Given the description of an element on the screen output the (x, y) to click on. 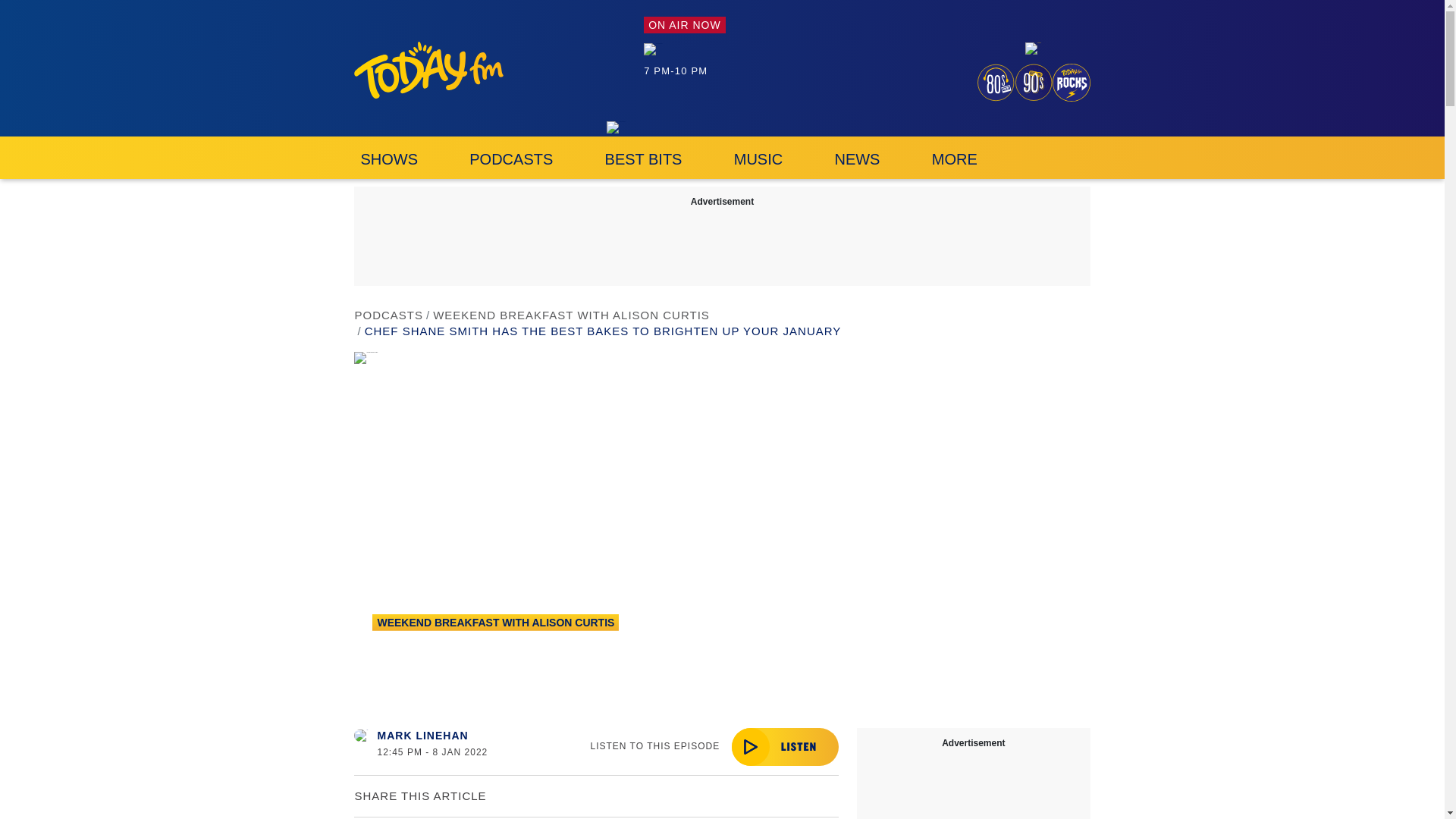
Music (758, 157)
Paula Macsweeney (652, 49)
WEEKEND BREAKFAST WITH ALISON CURTIS (495, 622)
Podcasts (511, 157)
PODCASTS (511, 157)
MUSIC (758, 157)
7 PM-10 PM (684, 58)
Shows (388, 157)
NEWS (856, 157)
MARK LINEHAN (422, 735)
